Given the description of an element on the screen output the (x, y) to click on. 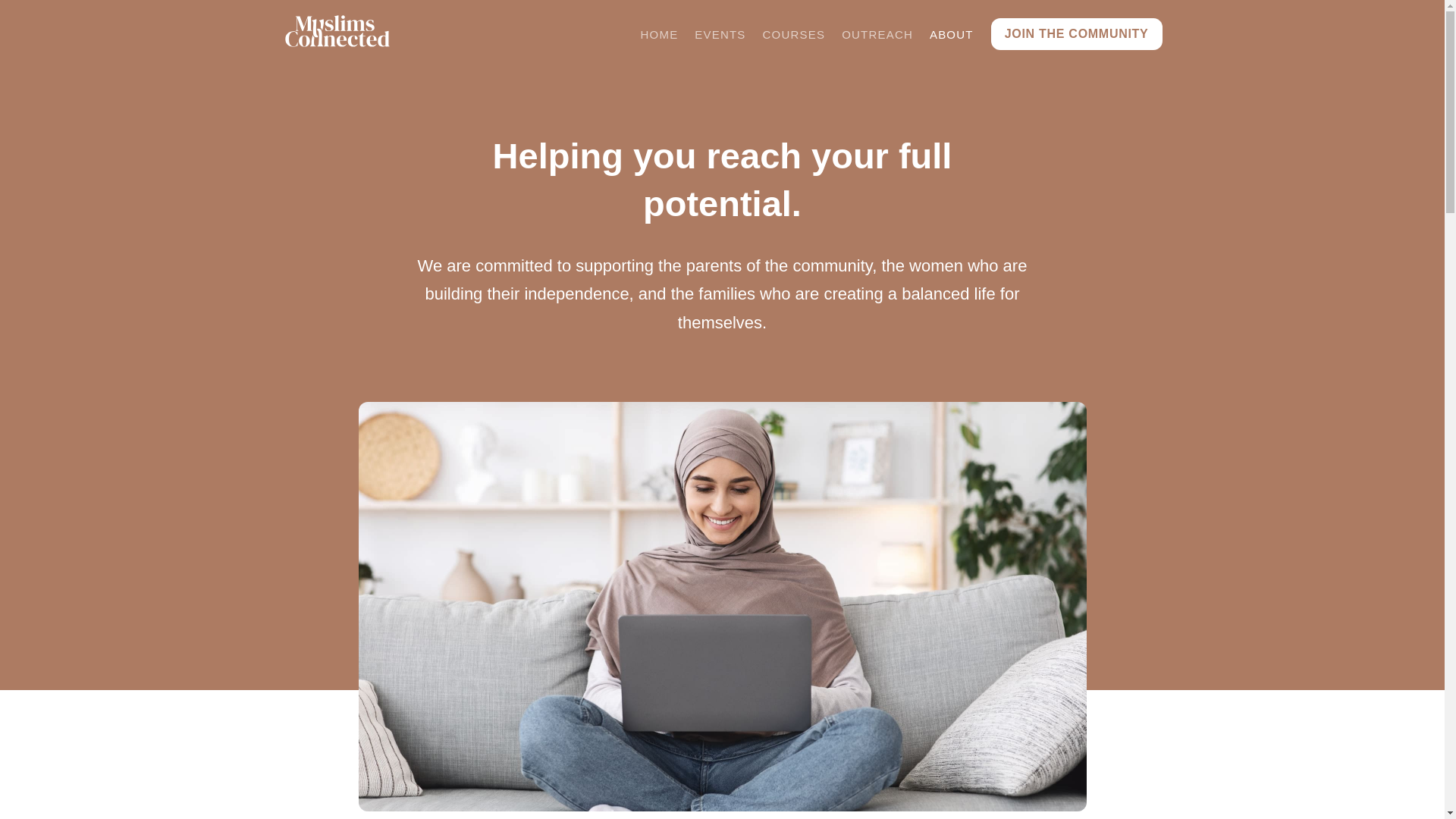
EVENTS (719, 34)
HOME (659, 34)
JOIN THE COMMUNITY (1076, 33)
COURSES (794, 34)
OUTREACH (876, 34)
ABOUT (951, 34)
